Given the description of an element on the screen output the (x, y) to click on. 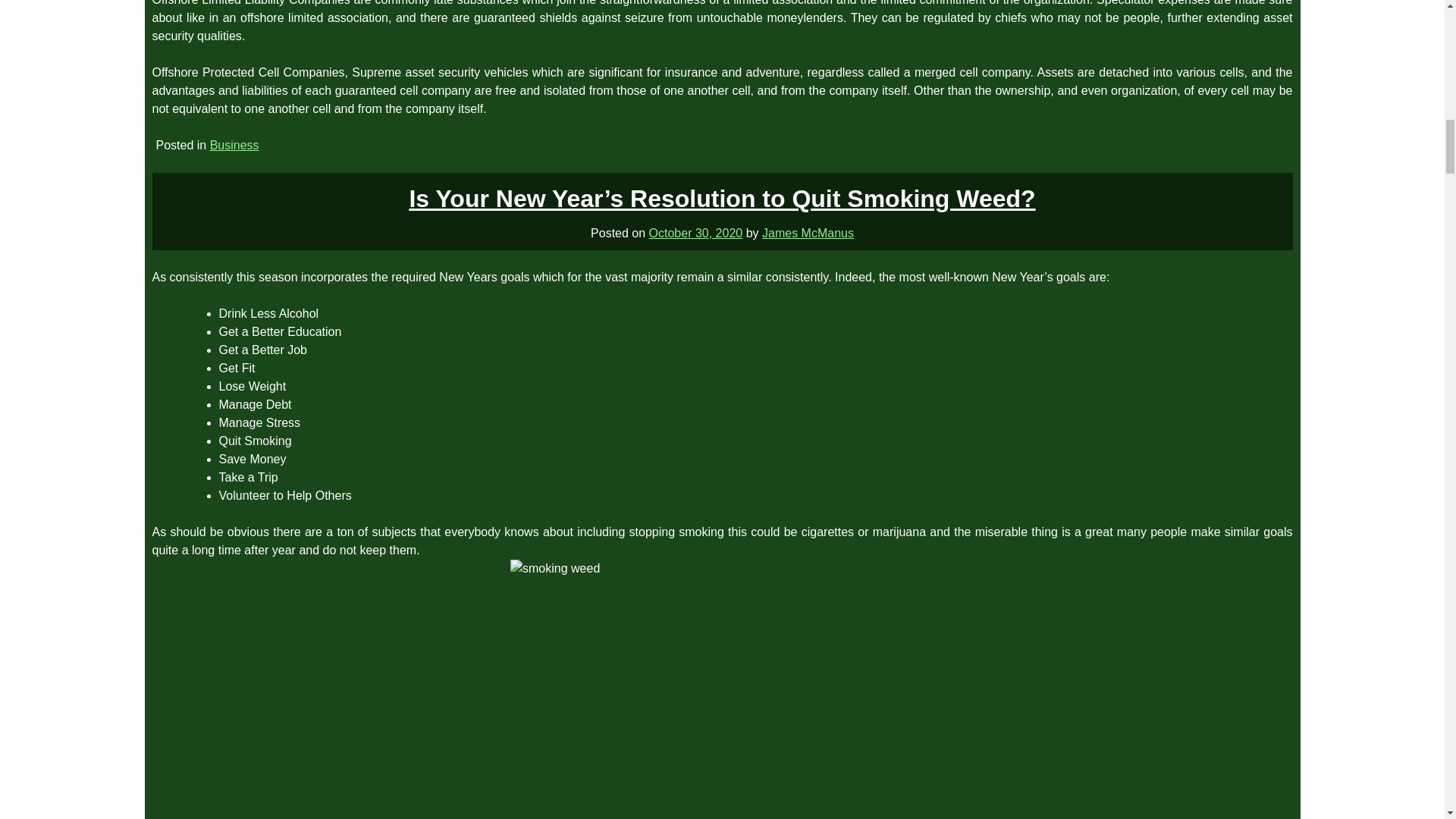
October 30, 2020 (695, 232)
Business (234, 144)
James McManus (807, 232)
